Given the description of an element on the screen output the (x, y) to click on. 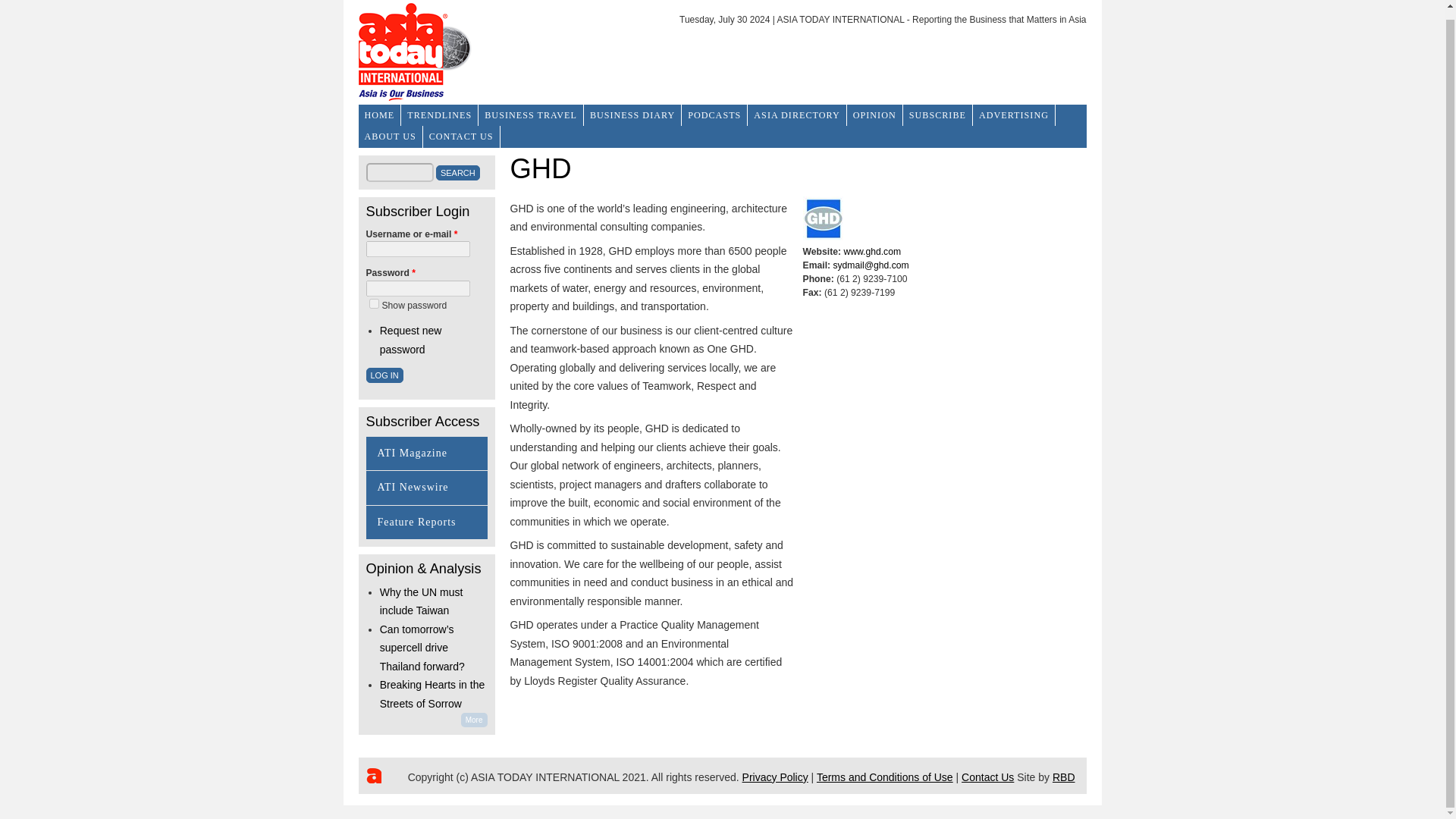
BUSINESS DIARY (632, 115)
Search (457, 172)
ADVERTISING (1013, 115)
Privacy Policy (775, 776)
ASIA DIRECTORY (796, 115)
on (373, 303)
ABOUT US (390, 136)
ATI Newswire (412, 487)
OPINION (874, 115)
HOME (379, 115)
CONTACT US (461, 136)
TRENDLINES (440, 115)
More (474, 719)
PODCASTS (714, 115)
Why the UN must include Taiwan (421, 601)
